Given the description of an element on the screen output the (x, y) to click on. 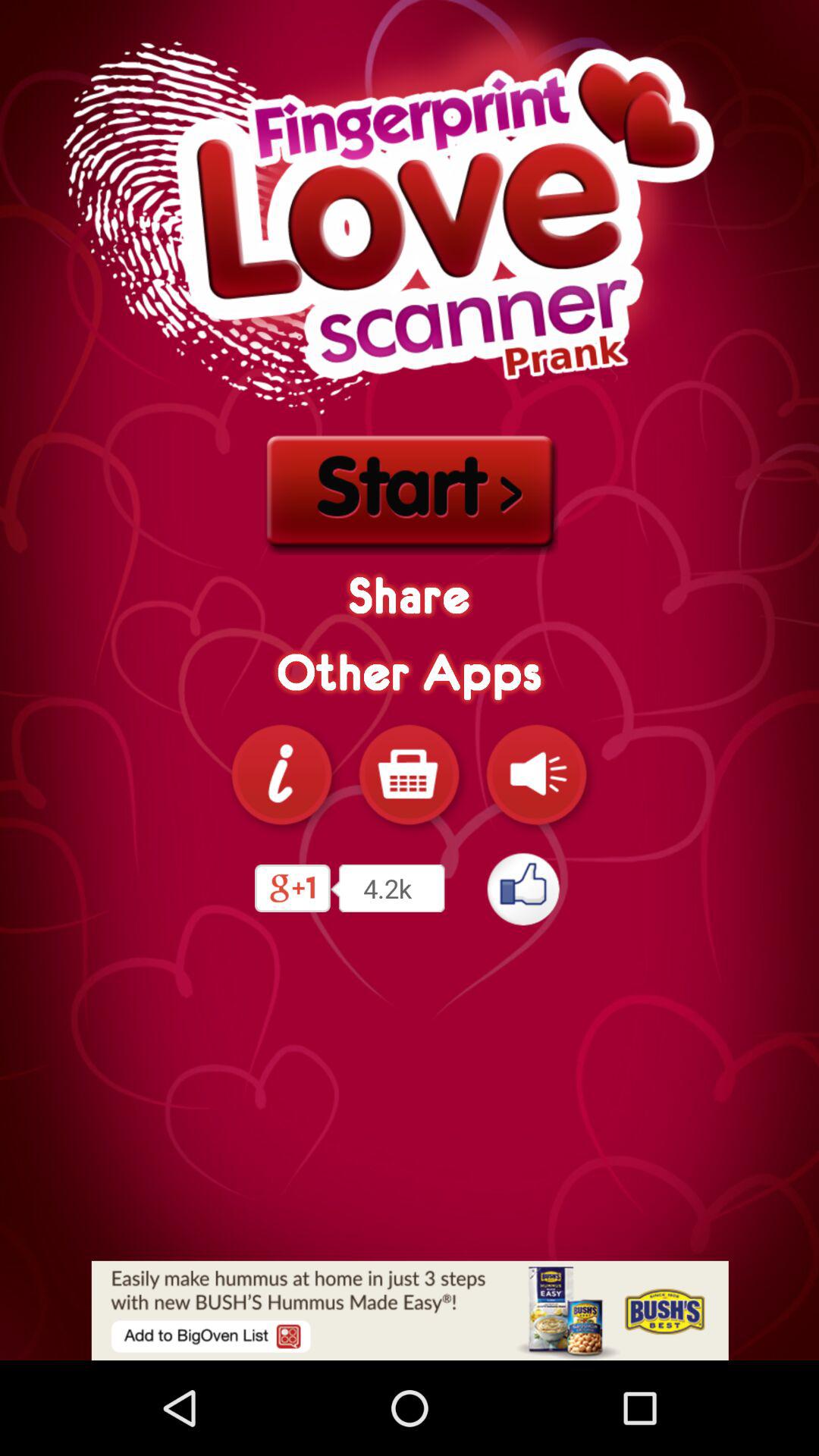
tag the sound (536, 774)
